Given the description of an element on the screen output the (x, y) to click on. 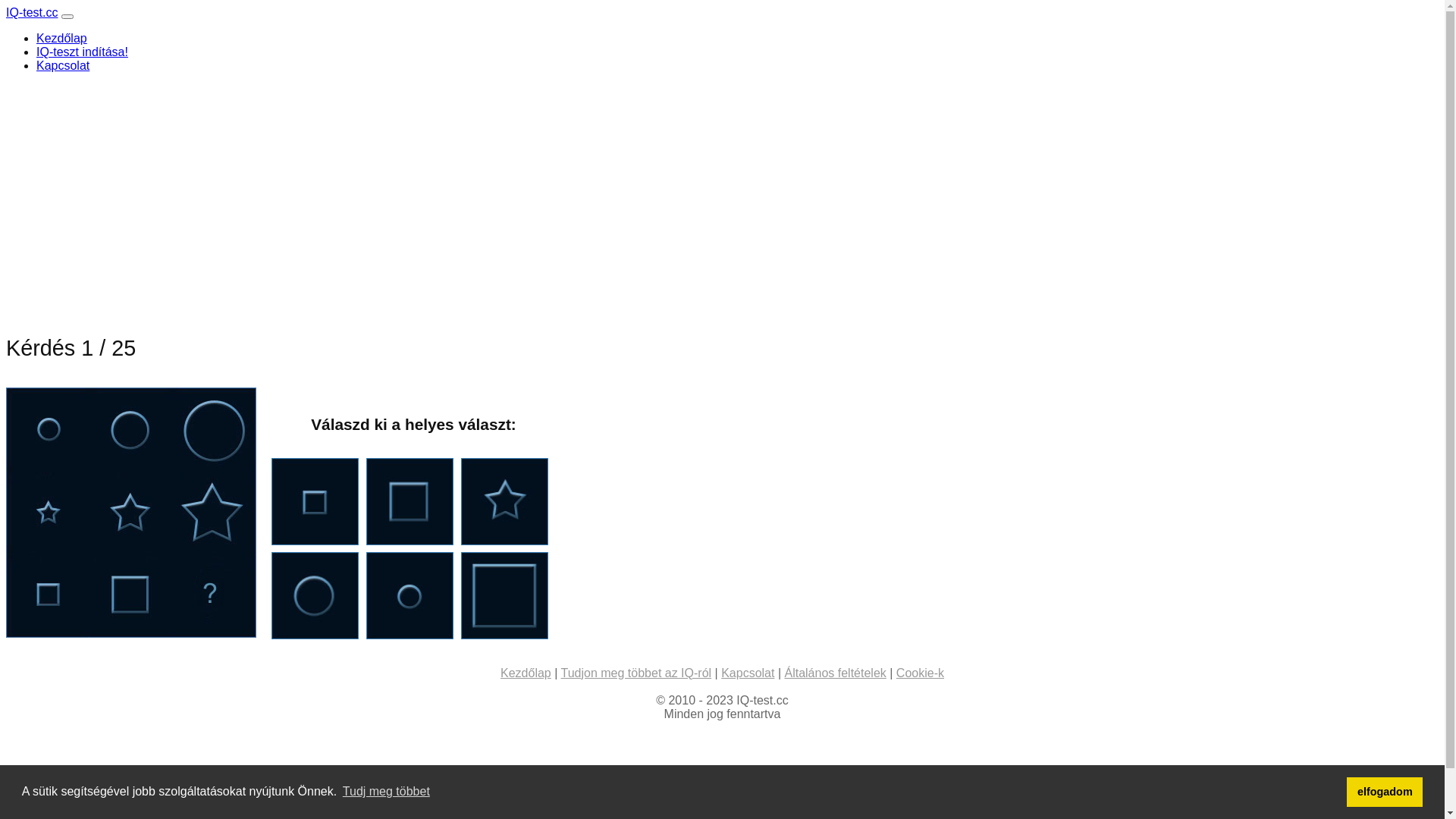
IQ-test.cc Element type: text (31, 12)
Advertisement Element type: hover (461, 190)
elfogadom Element type: text (1384, 791)
Kapcsolat Element type: text (62, 65)
Cookie-k Element type: text (920, 672)
Kapcsolat Element type: text (747, 672)
